Given the description of an element on the screen output the (x, y) to click on. 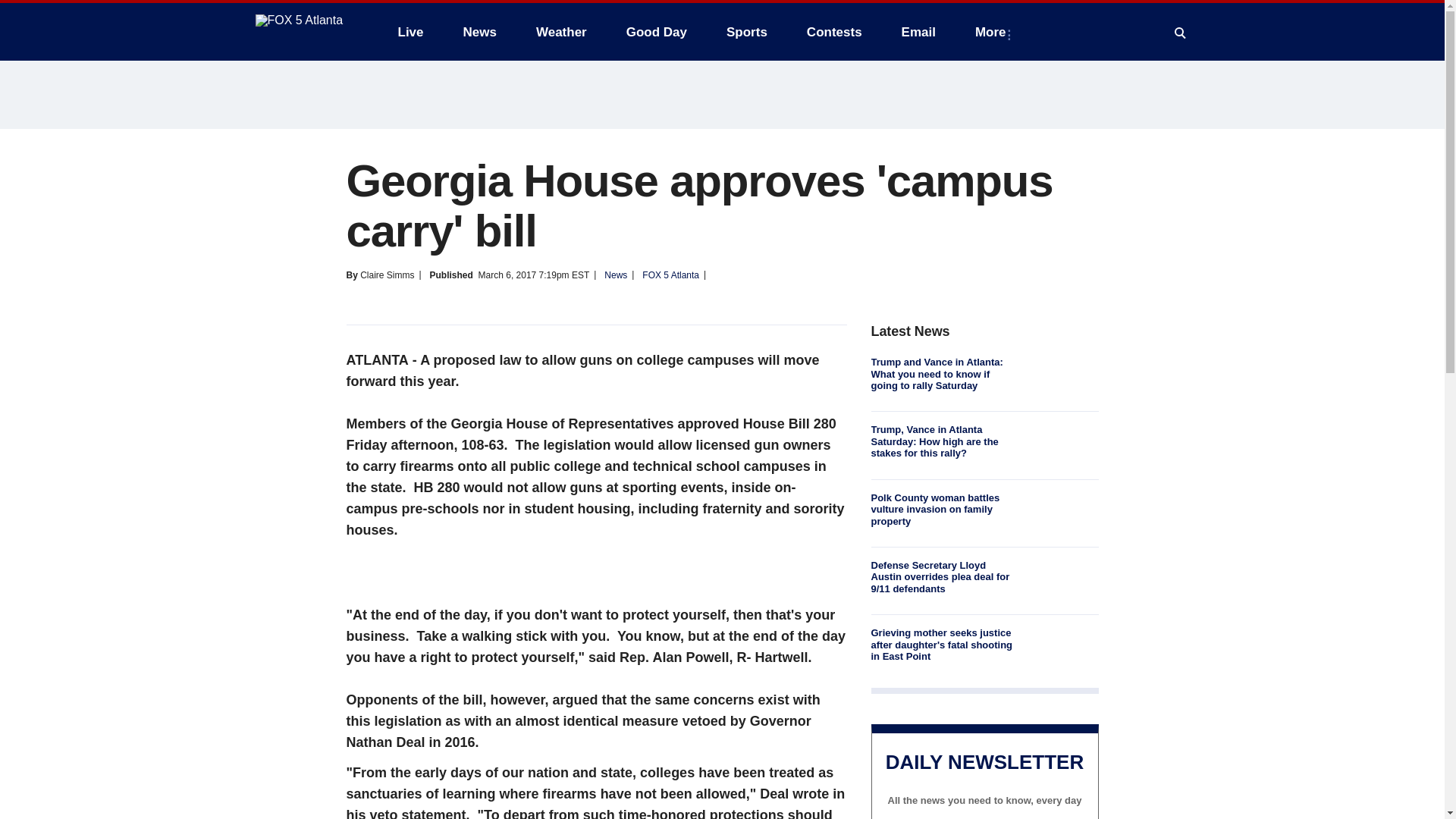
News (479, 32)
Email (918, 32)
Sports (746, 32)
Good Day (656, 32)
More (993, 32)
Weather (561, 32)
Live (410, 32)
Contests (834, 32)
